Given the description of an element on the screen output the (x, y) to click on. 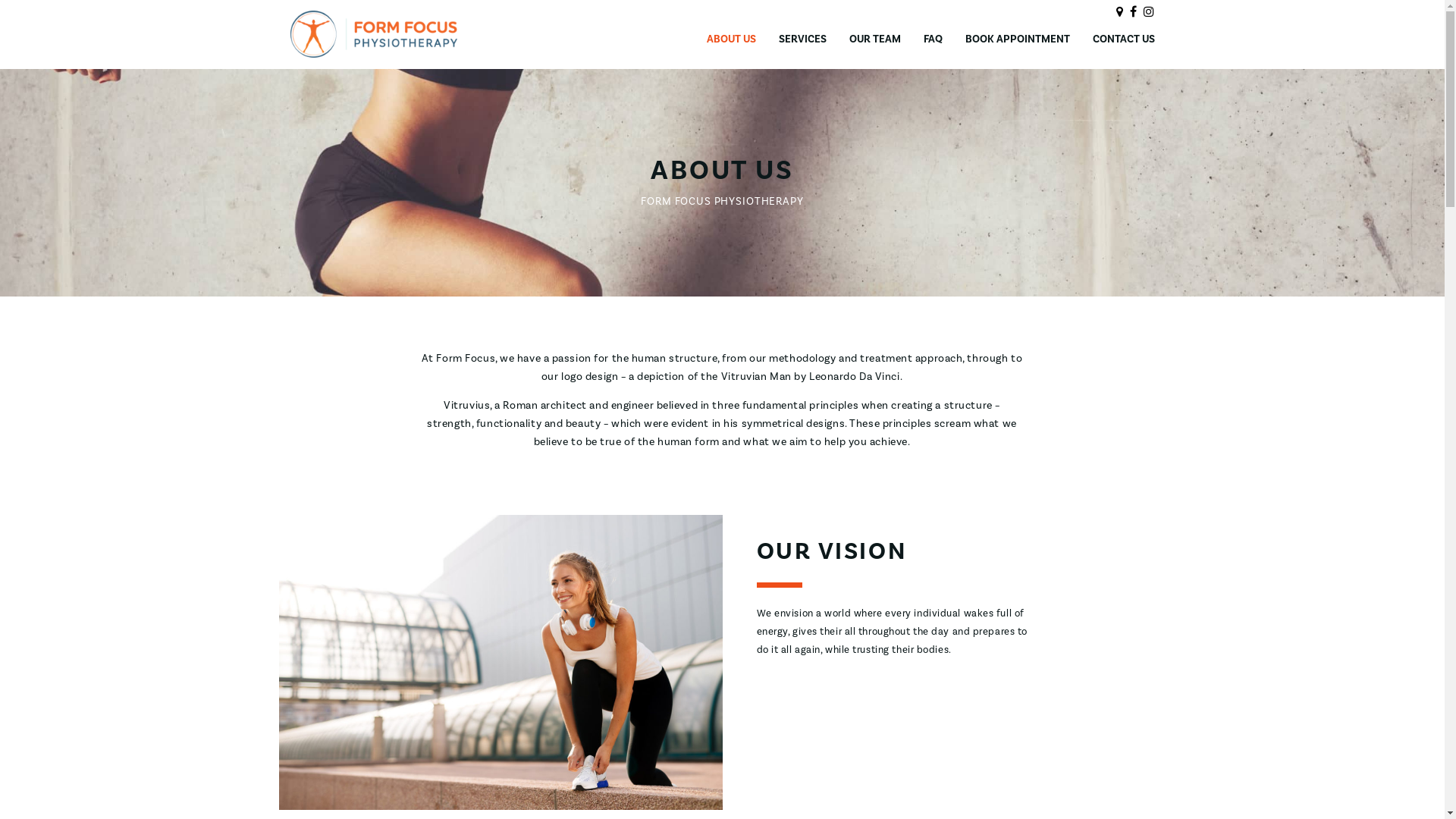
CONTACT US Element type: text (1123, 39)
ABOUT US Element type: text (731, 39)
OUR TEAM Element type: text (874, 39)
SERVICES Element type: text (801, 39)
FAQ Element type: text (932, 39)
Website Our Vision Element type: hover (500, 662)
BOOK APPOINTMENT Element type: text (1016, 39)
